Given the description of an element on the screen output the (x, y) to click on. 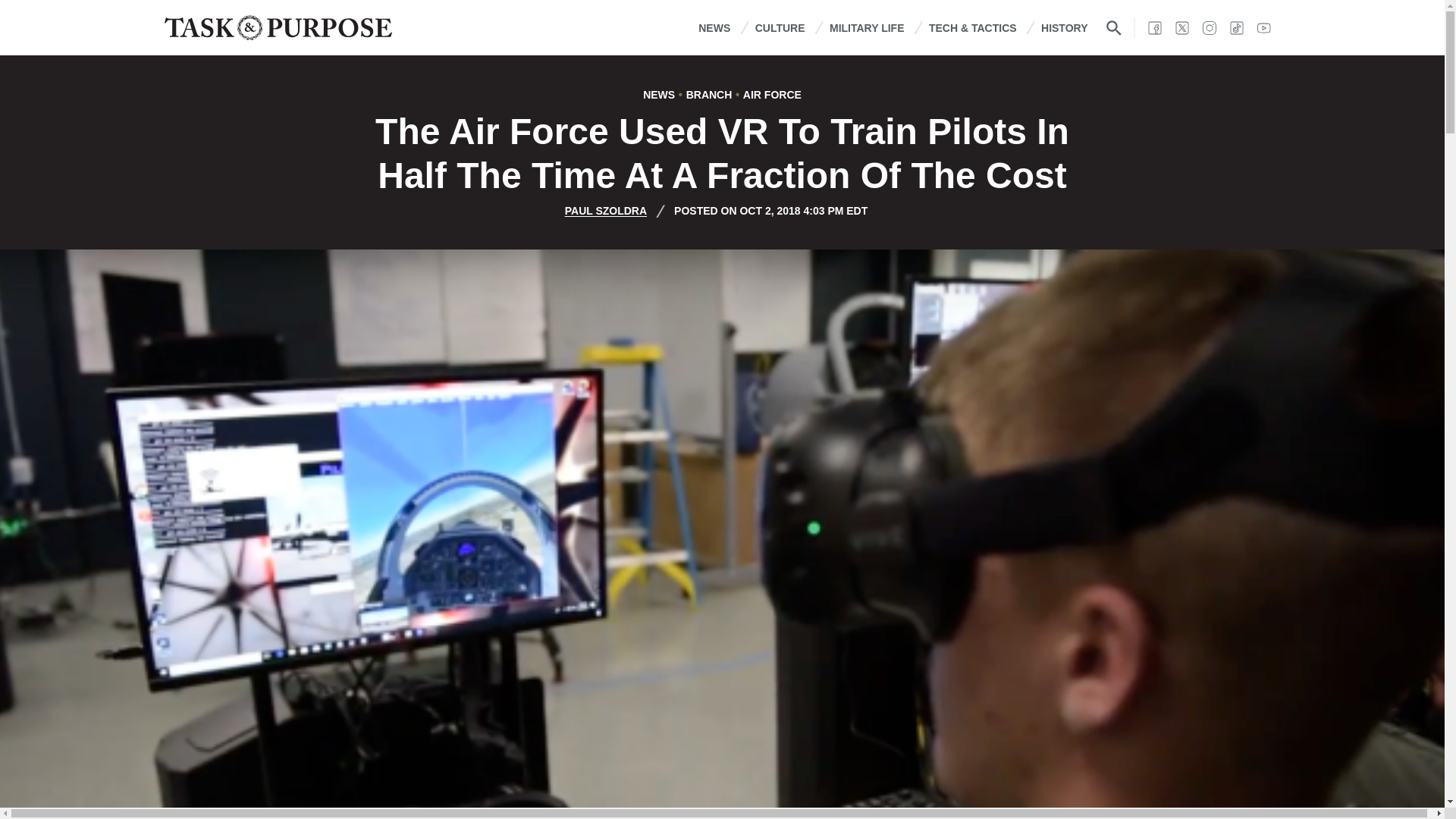
CULTURE (780, 27)
NEWS (714, 27)
MILITARY LIFE (866, 27)
